Given the description of an element on the screen output the (x, y) to click on. 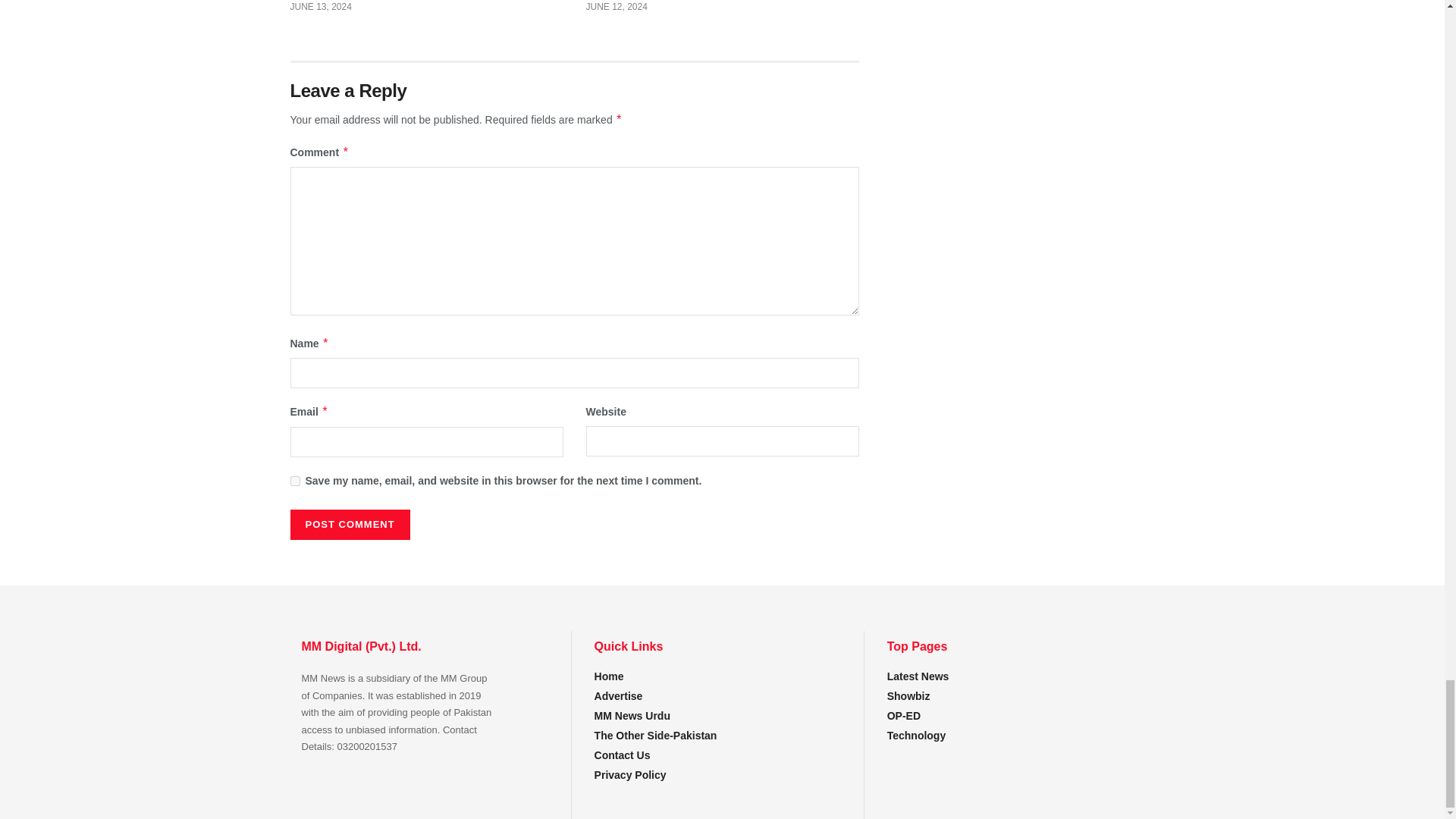
yes (294, 480)
Post Comment (349, 524)
